Given the description of an element on the screen output the (x, y) to click on. 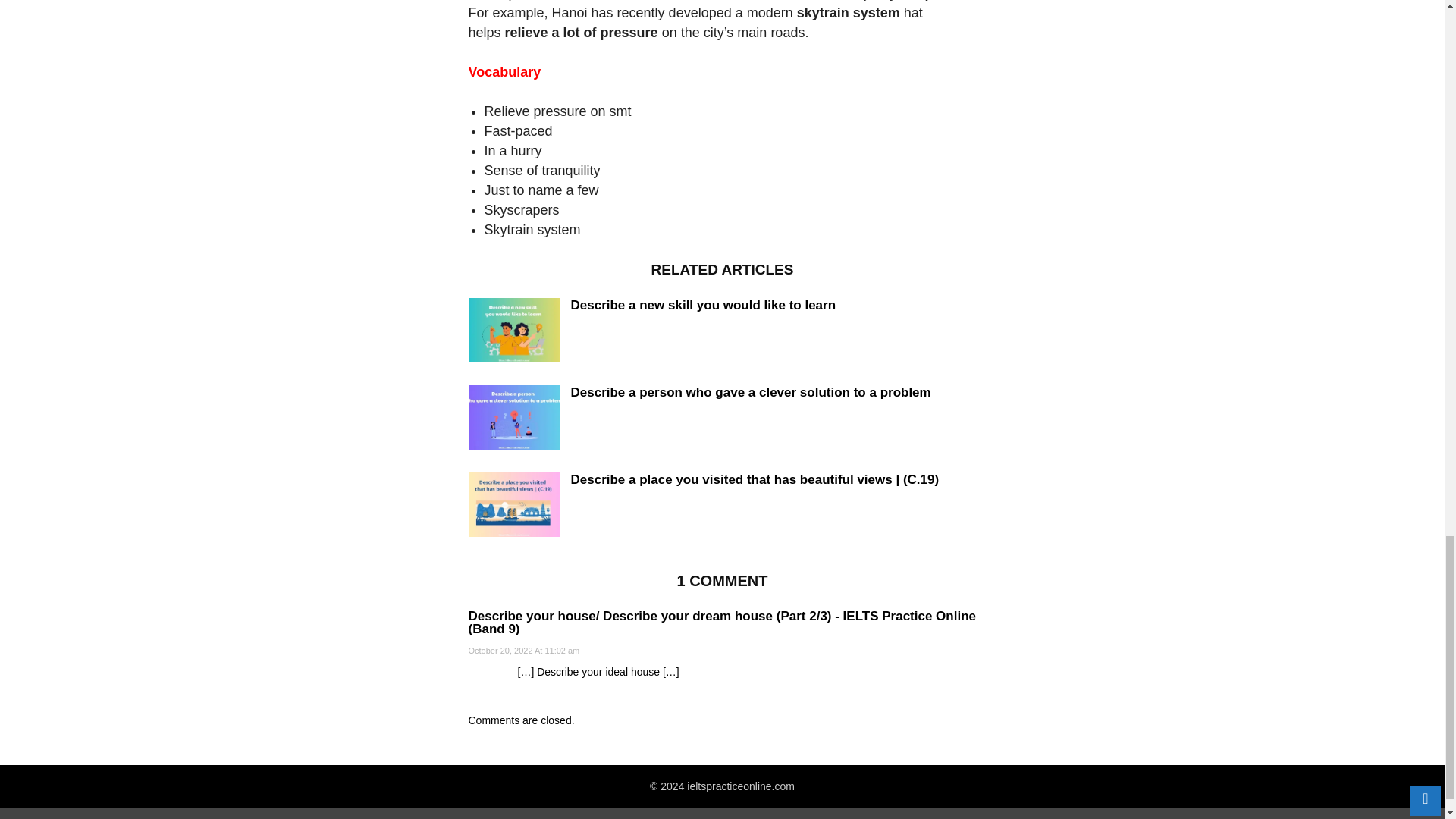
Describe a new skill you would like to learn (702, 305)
October 20, 2022 At 11:02 am (523, 650)
Describe a person who gave a clever solution to a problem (513, 418)
Describe a person who gave a clever solution to a problem (750, 391)
Describe a person who gave a clever solution to a problem (750, 391)
Describe a new skill you would like to learn (513, 332)
Describe a new skill you would like to learn (702, 305)
